Given the description of an element on the screen output the (x, y) to click on. 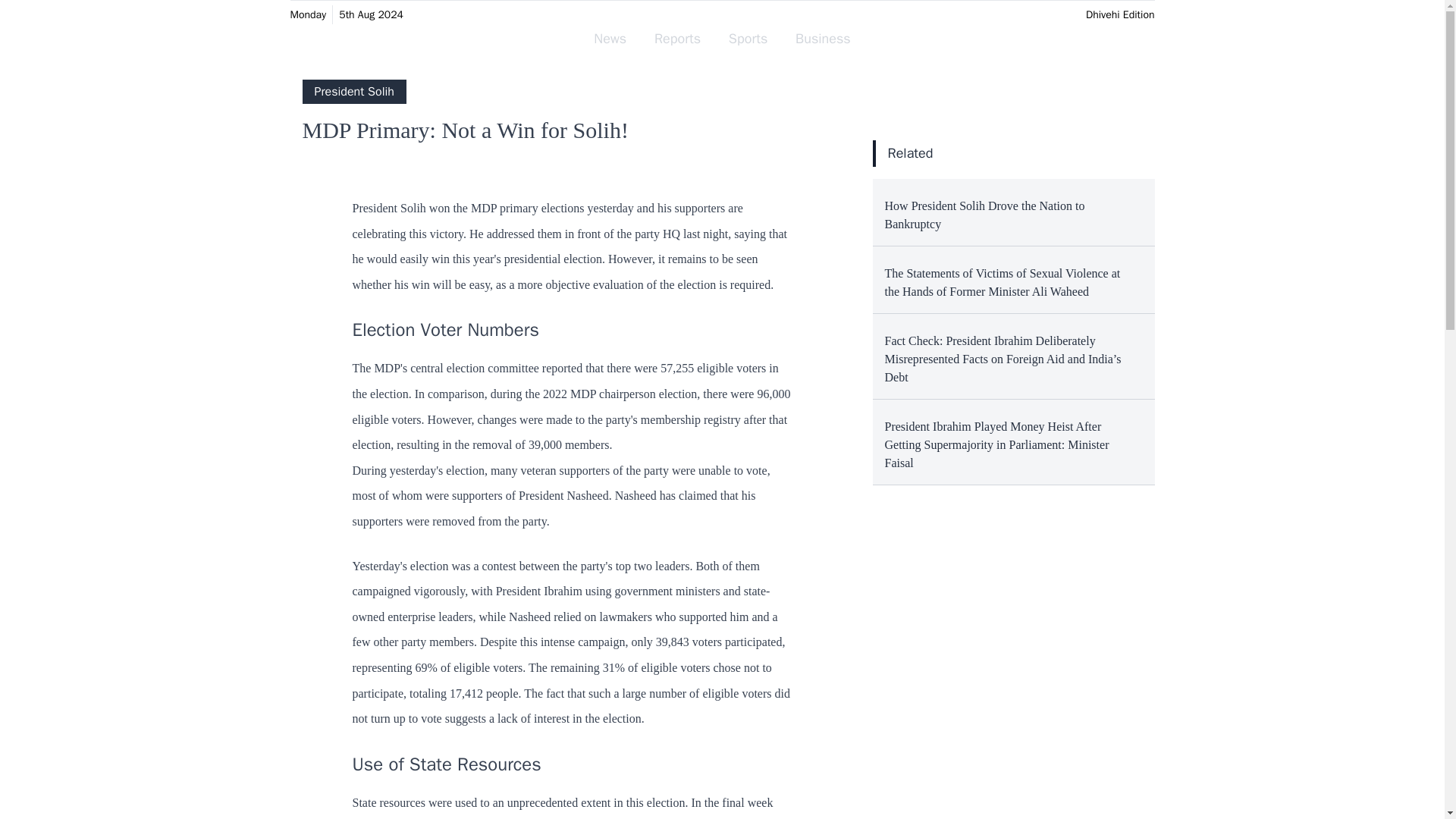
Business (823, 38)
Related (910, 153)
Sports (747, 38)
How President Solih Drove the Nation to Bankruptcy (1013, 212)
Reports (677, 38)
Dhivehi Edition (1120, 14)
News (609, 38)
President Solih (353, 91)
